Given the description of an element on the screen output the (x, y) to click on. 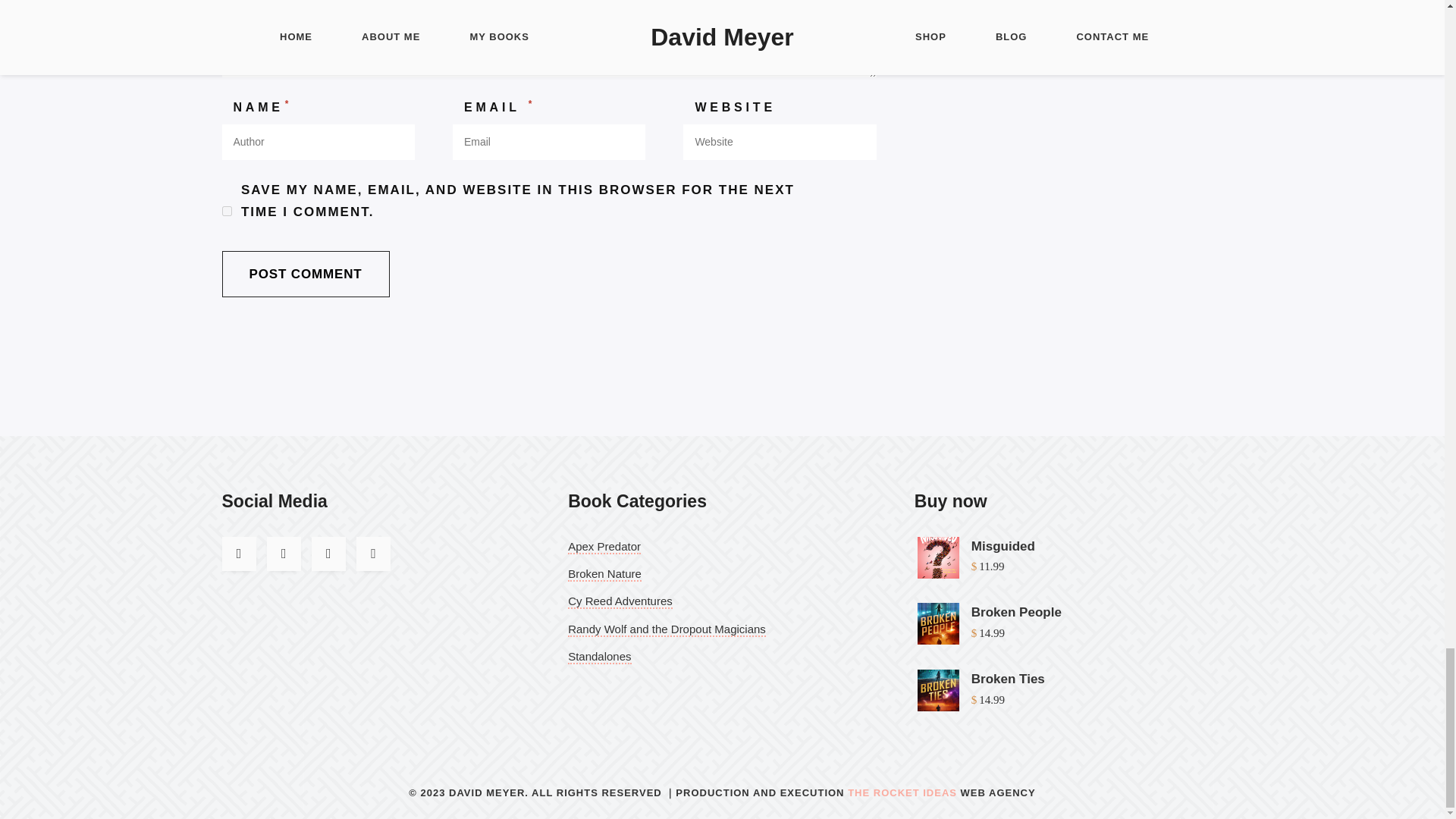
Post Comment (304, 273)
Post Comment (304, 273)
yes (226, 211)
